Given the description of an element on the screen output the (x, y) to click on. 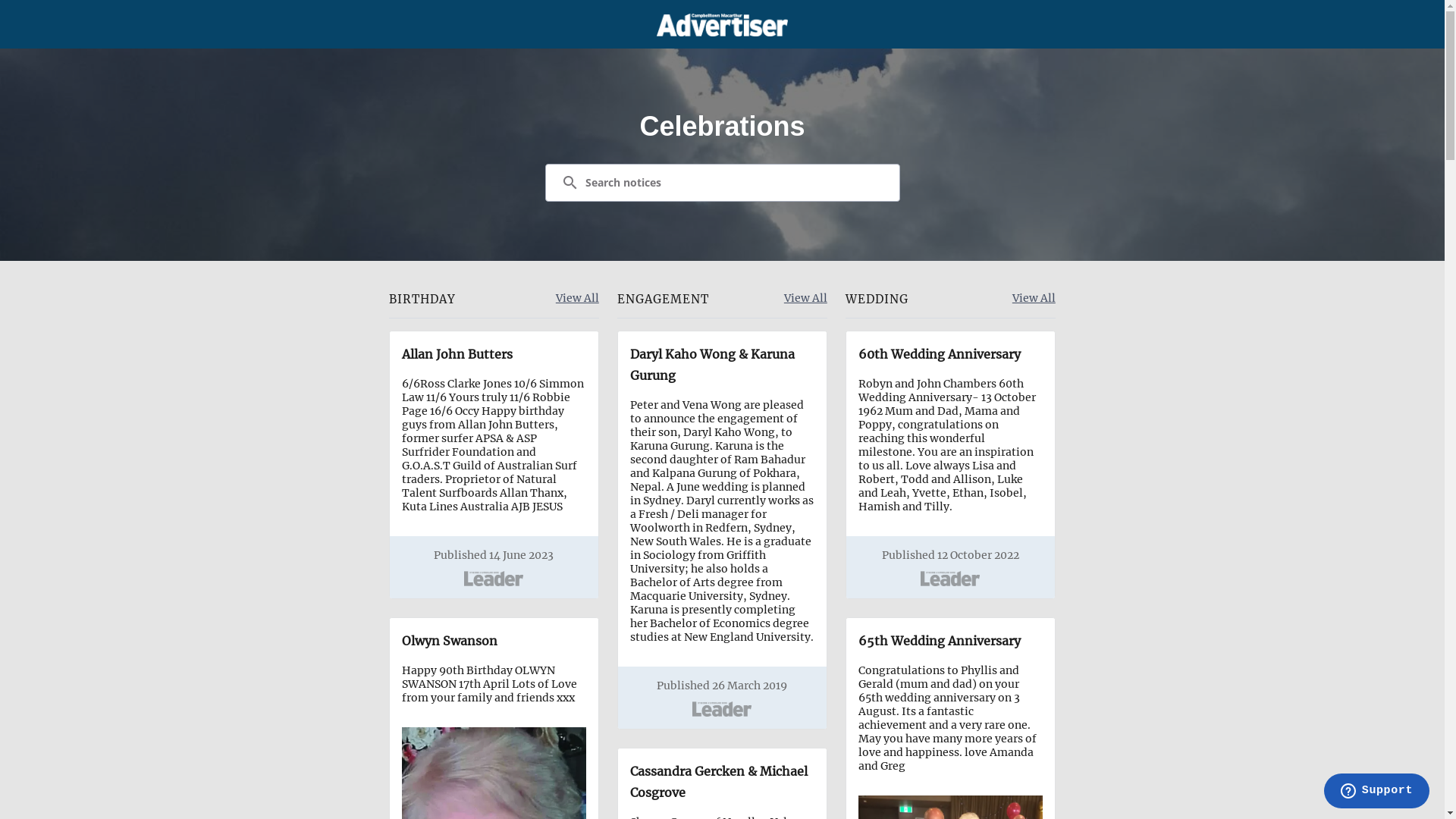
View All Element type: text (577, 299)
View All Element type: text (1033, 299)
Opens a widget where you can find more information Element type: hover (1376, 792)
View All Element type: text (805, 299)
